Given the description of an element on the screen output the (x, y) to click on. 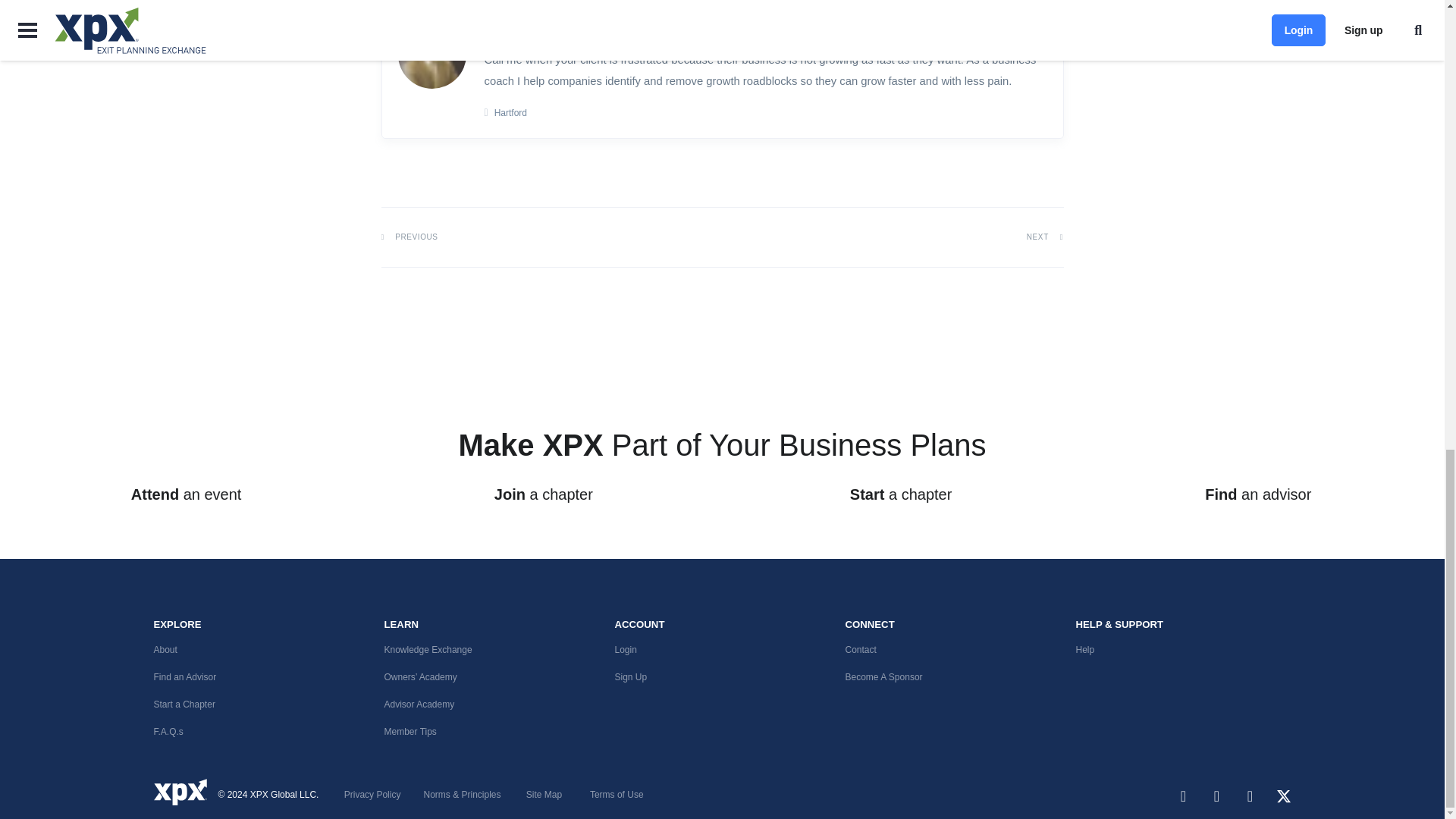
Privacy Policy (372, 794)
Site Map (461, 794)
Terms of Use (616, 794)
Site Map (543, 794)
